Given the description of an element on the screen output the (x, y) to click on. 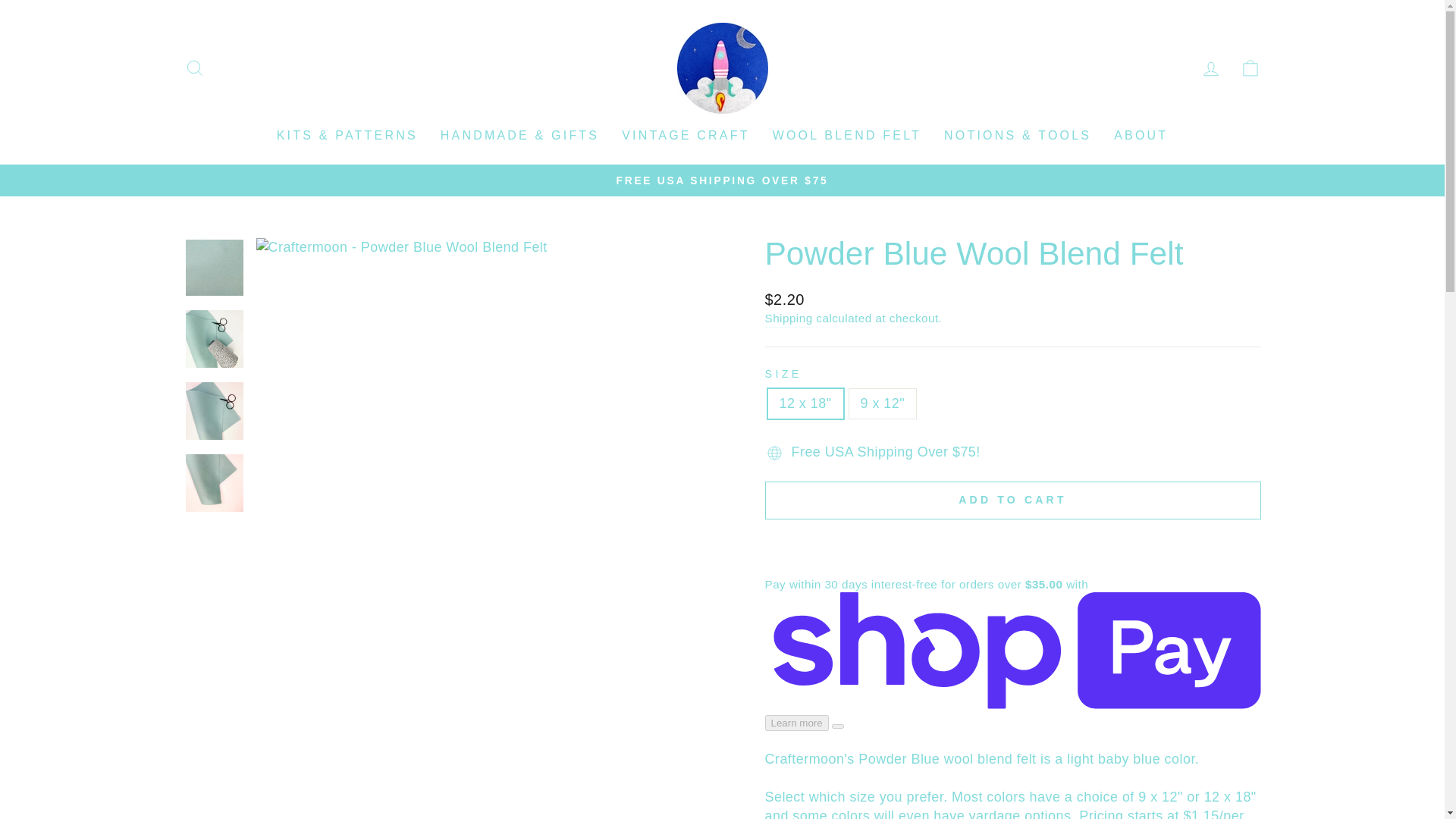
ACCOUNT (1210, 68)
ICON-SEARCH (194, 67)
ICON-BAG-MINIMAL (1249, 67)
ABOUT (1140, 135)
ADD TO CART (1012, 500)
Shipping (788, 318)
12 x 18" (1210, 67)
